Given the description of an element on the screen output the (x, y) to click on. 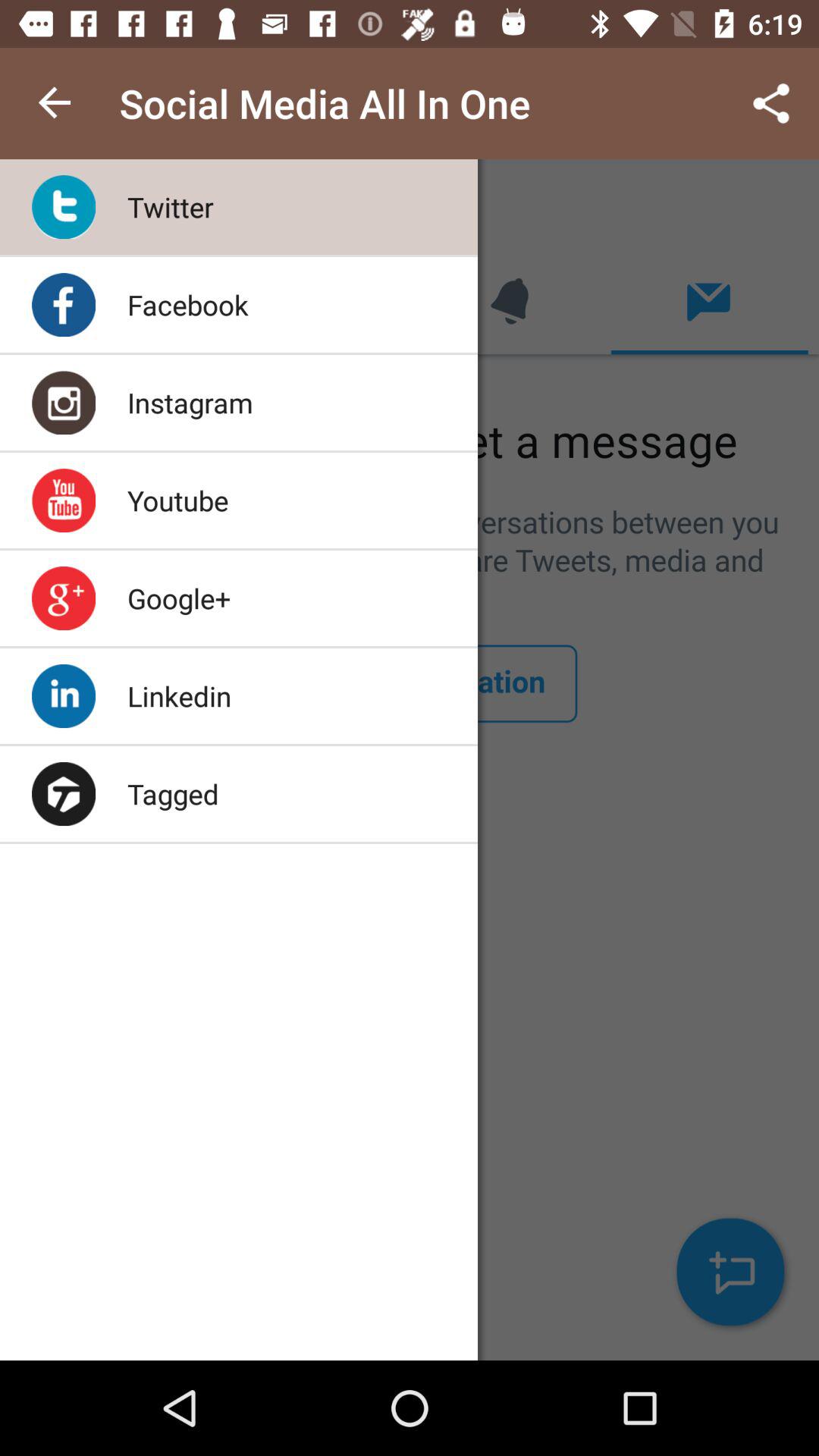
screen selection (409, 759)
